Given the description of an element on the screen output the (x, y) to click on. 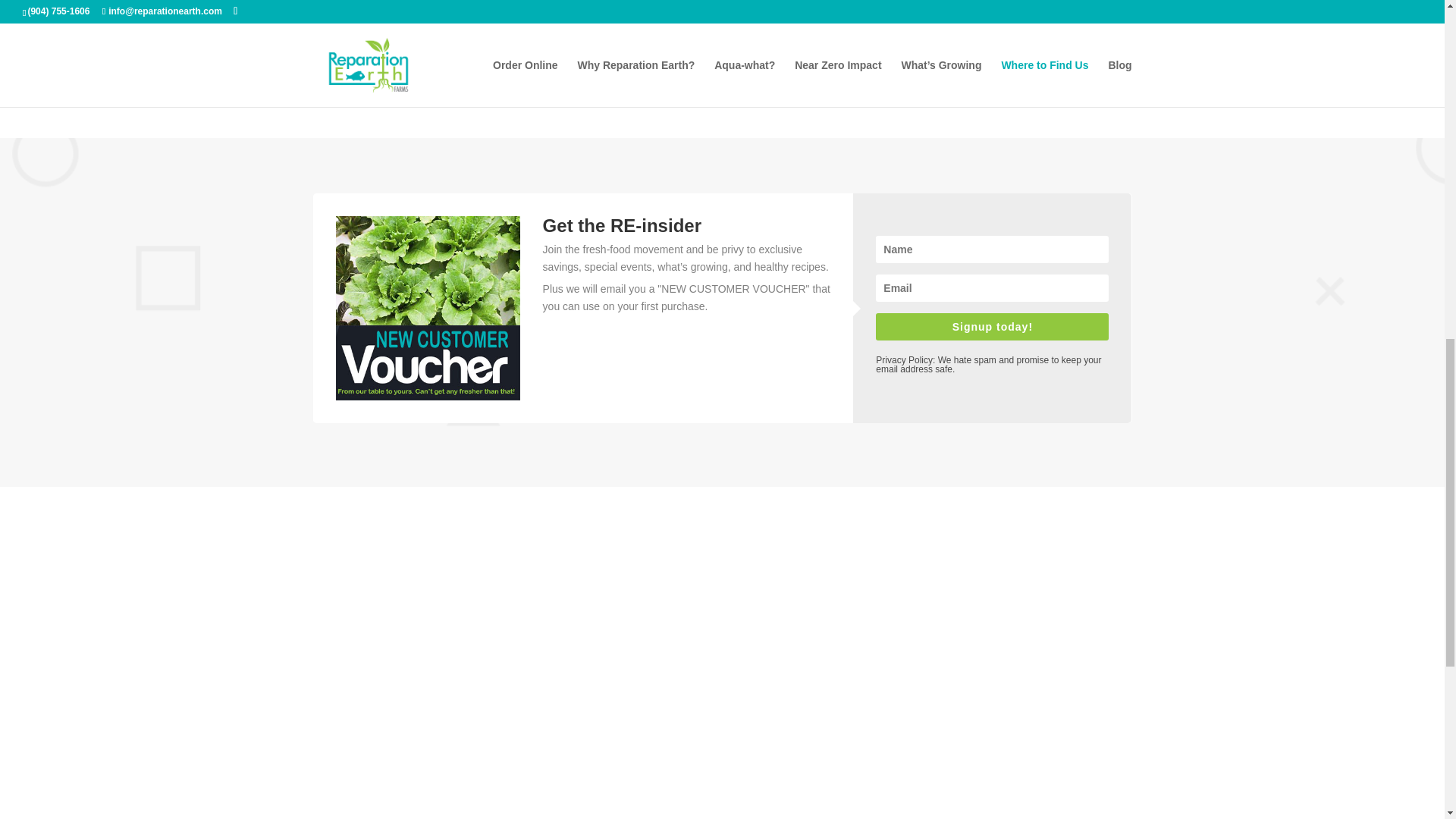
EMAIL US TODAY (811, 74)
Signup today! (992, 326)
